Given the description of an element on the screen output the (x, y) to click on. 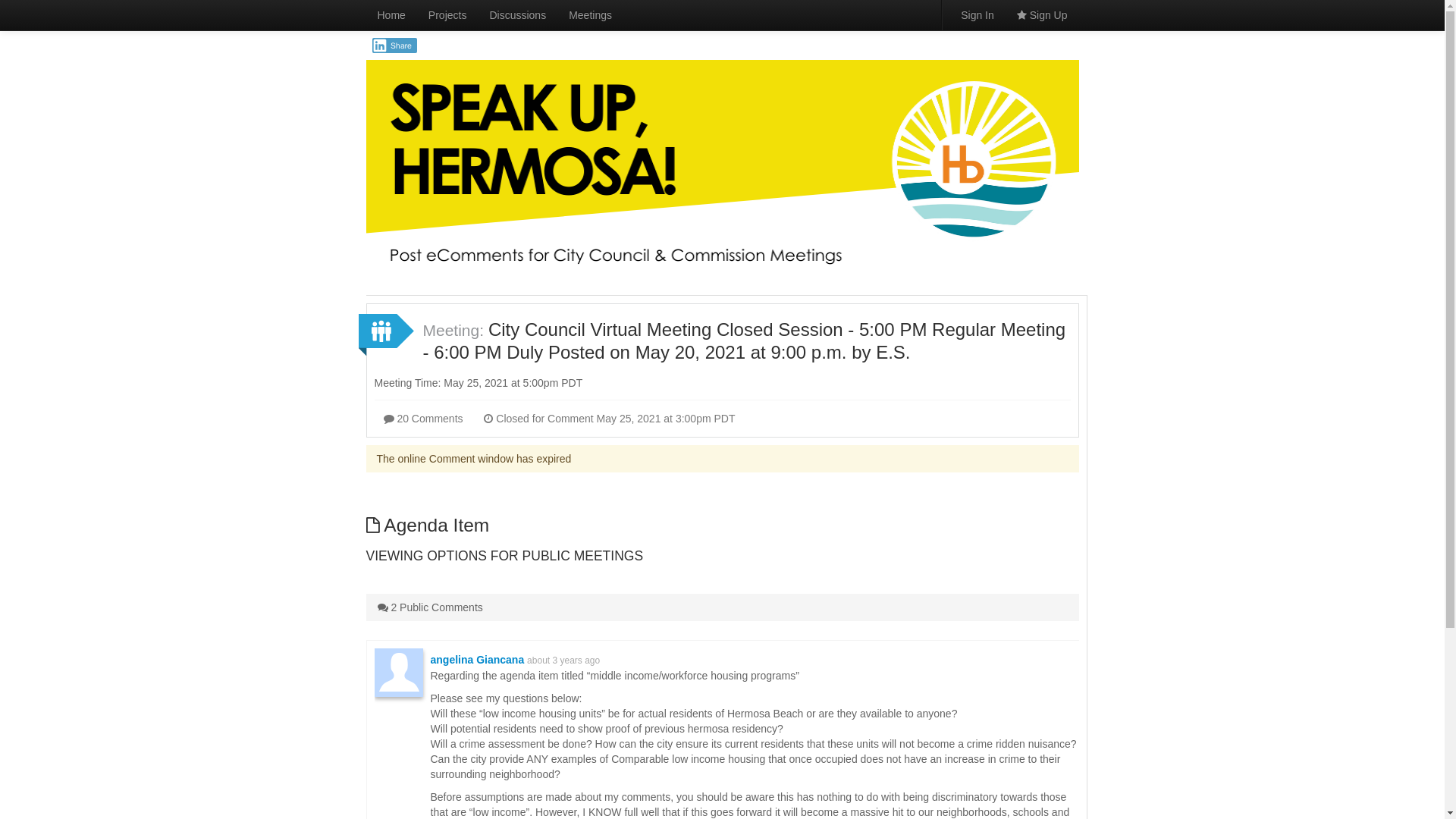
Home (390, 15)
Share (394, 45)
angelina Giancana (477, 659)
Discussions (517, 15)
20 Comments (422, 418)
Sign Up (1042, 15)
Meetings (590, 15)
Closed for Comment May 25, 2021 at 3:00pm PDT (609, 418)
Sign In (977, 15)
Projects (447, 15)
